Given the description of an element on the screen output the (x, y) to click on. 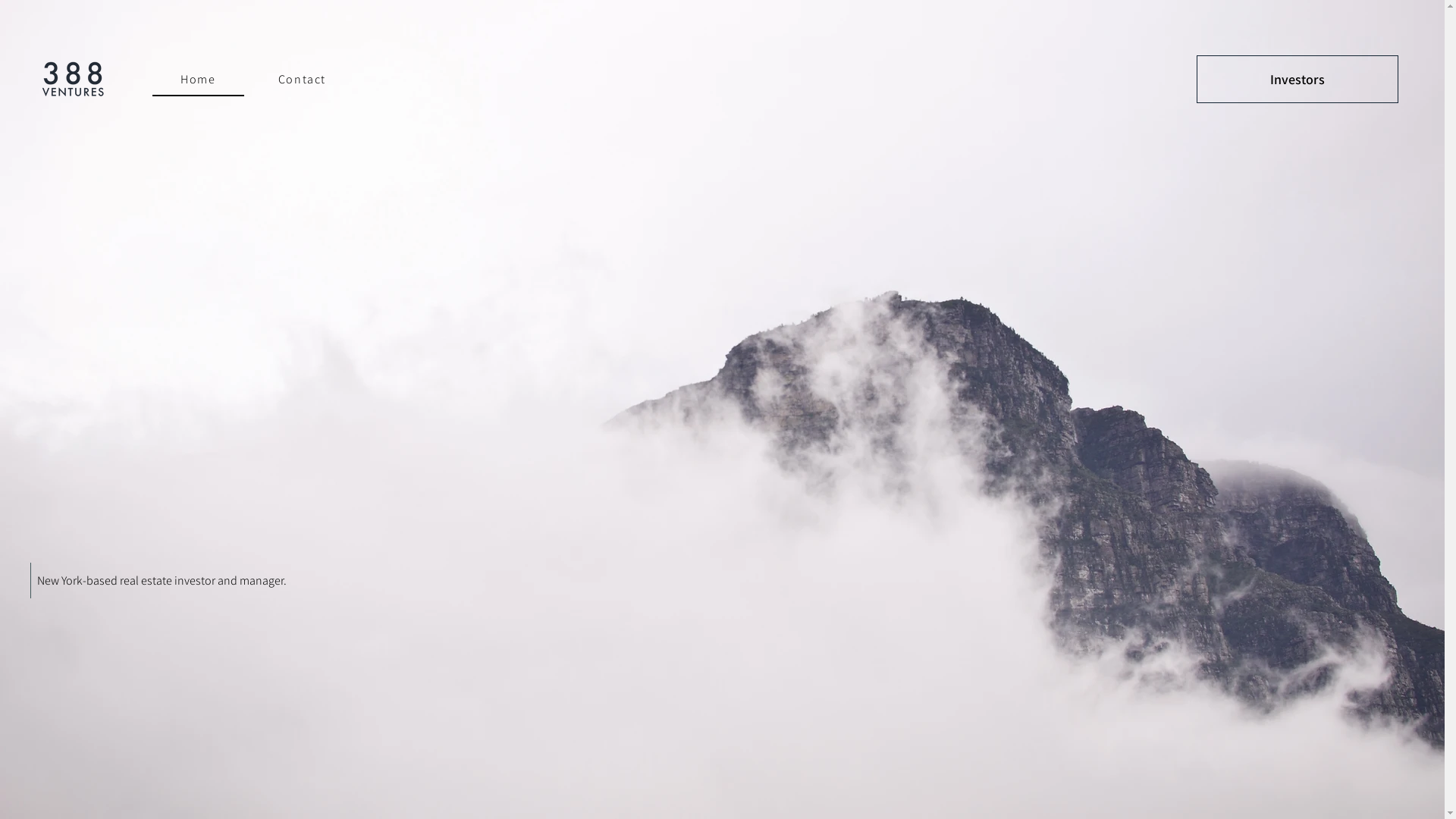
Home Element type: text (198, 79)
Investors Element type: text (1297, 79)
Contact Element type: text (302, 79)
